Given the description of an element on the screen output the (x, y) to click on. 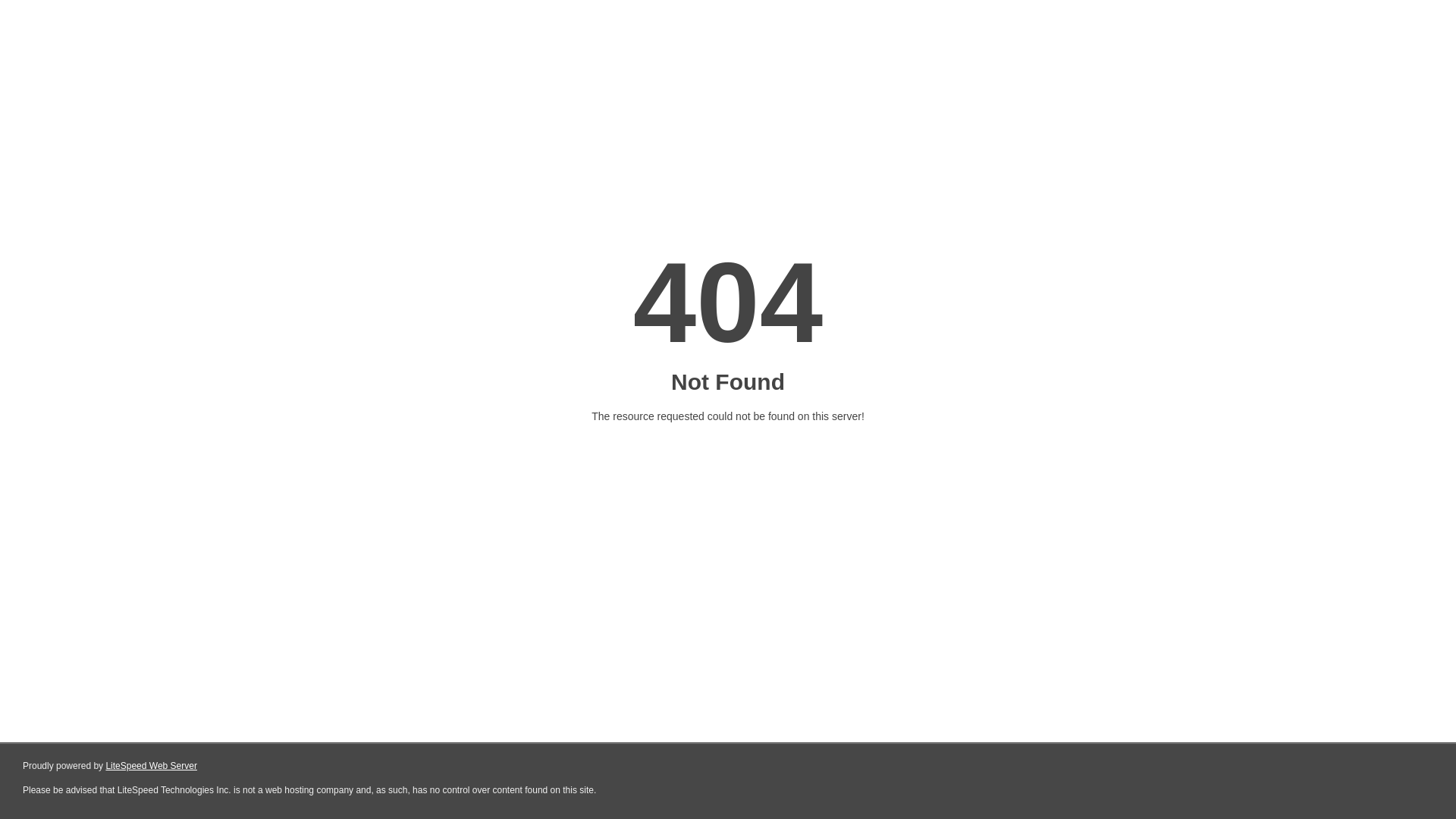
LiteSpeed Web Server Element type: text (151, 765)
